Given the description of an element on the screen output the (x, y) to click on. 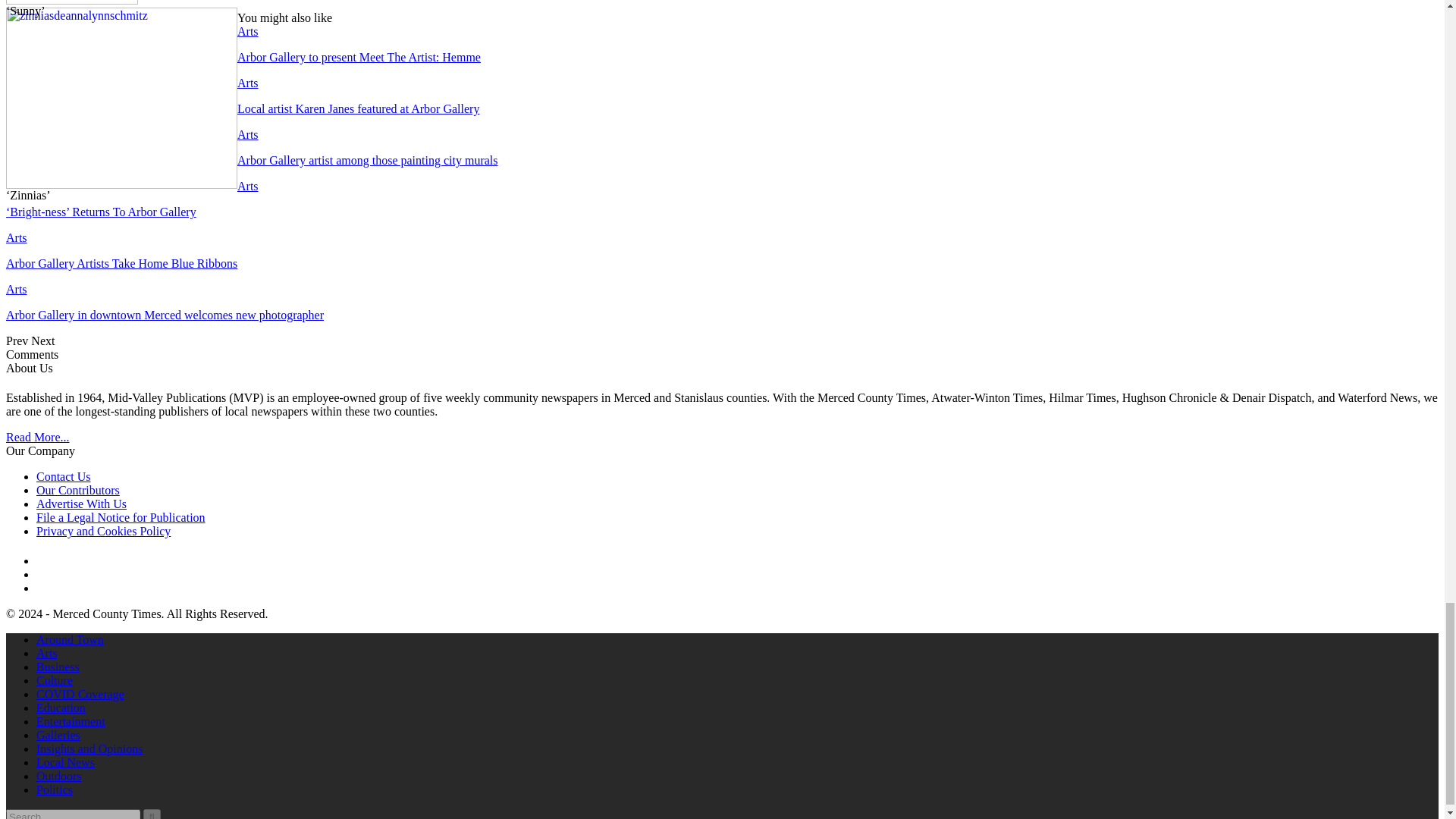
Arbor Gallery to present Meet The Artist: Hemme (358, 56)
zinniasdeannalynnschmitz (121, 98)
Local artist Karen Janes featured at Arbor Gallery (358, 108)
Arbor Gallery artist among those painting city murals (367, 160)
SunnyDeannaLynnSchmitz (71, 2)
